Given the description of an element on the screen output the (x, y) to click on. 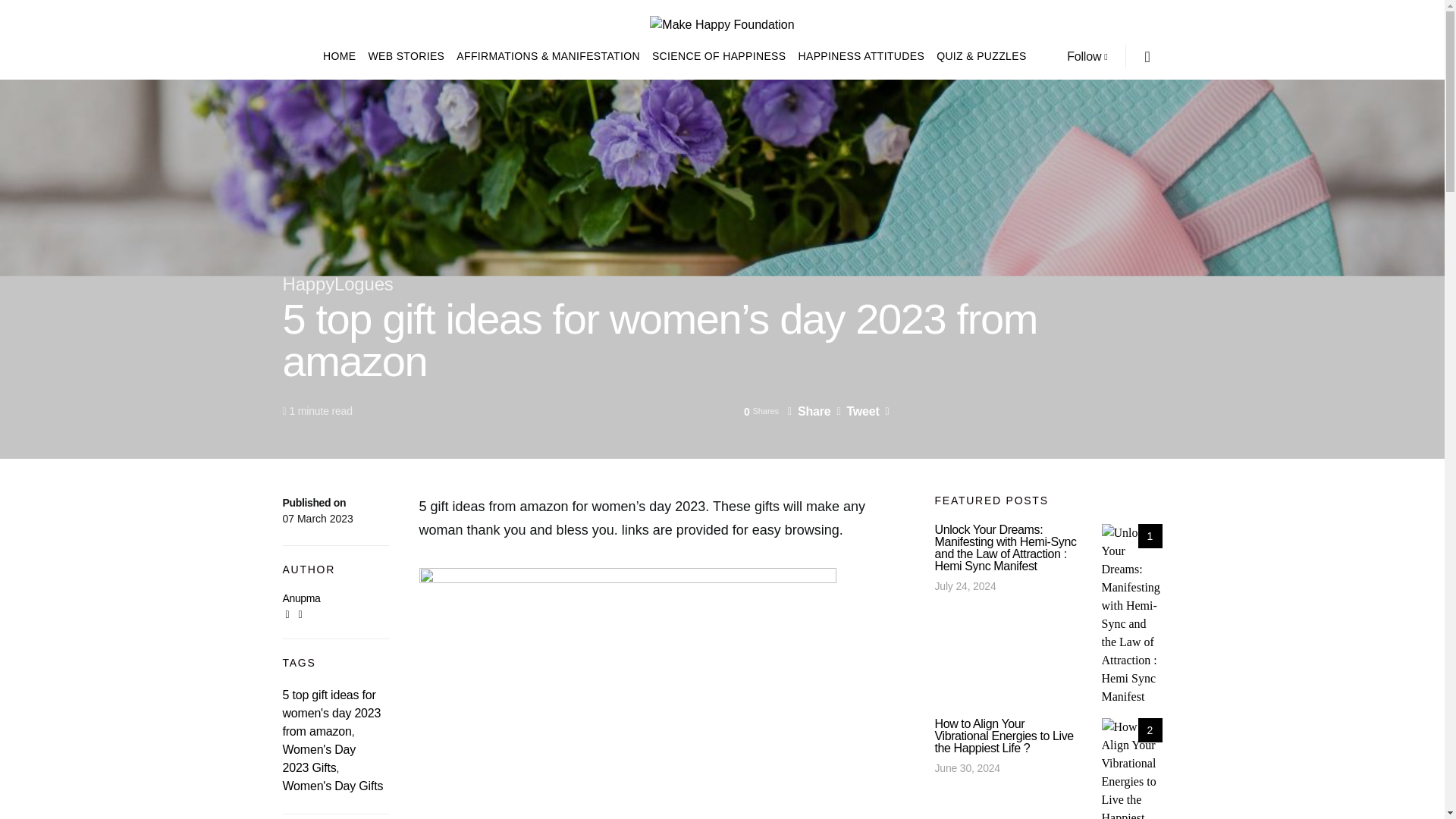
Women's Day 2023 Gifts (318, 757)
Share (808, 411)
SCIENCE OF HAPPINESS (719, 56)
WEB STORIES (405, 56)
5 top gift ideas for women's day 2023 from amazon (331, 712)
Tweet (857, 411)
HappyLogues (337, 283)
HAPPINESS ATTITUDES (861, 56)
Anupma (301, 598)
Women's Day Gifts (332, 785)
